Given the description of an element on the screen output the (x, y) to click on. 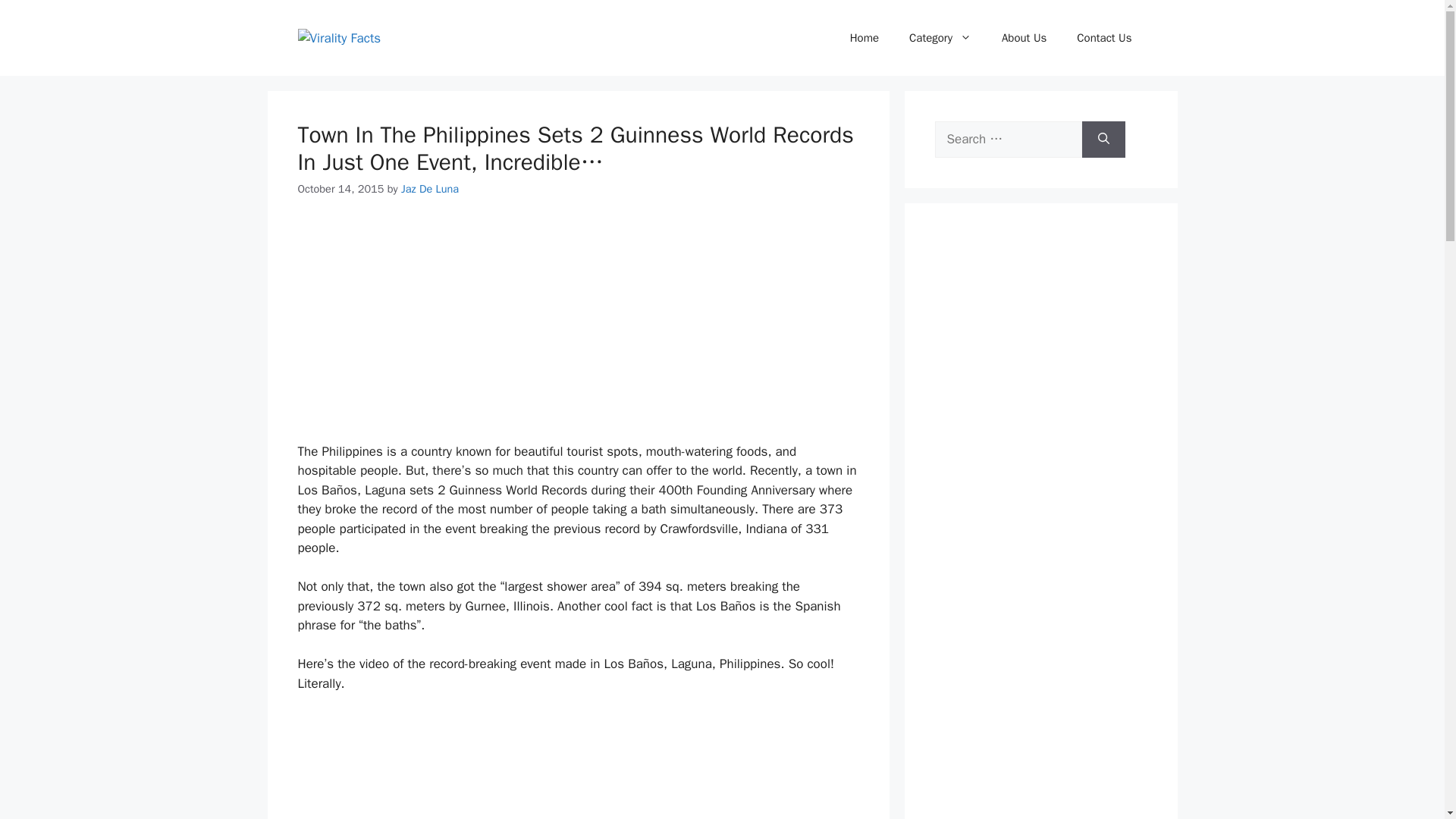
Advertisement (578, 329)
Search for: (1007, 139)
View all posts by Jaz De Luna (429, 188)
Category (940, 37)
Advertisement (578, 765)
Jaz De Luna (429, 188)
Home (863, 37)
Contact Us (1104, 37)
About Us (1024, 37)
